Given the description of an element on the screen output the (x, y) to click on. 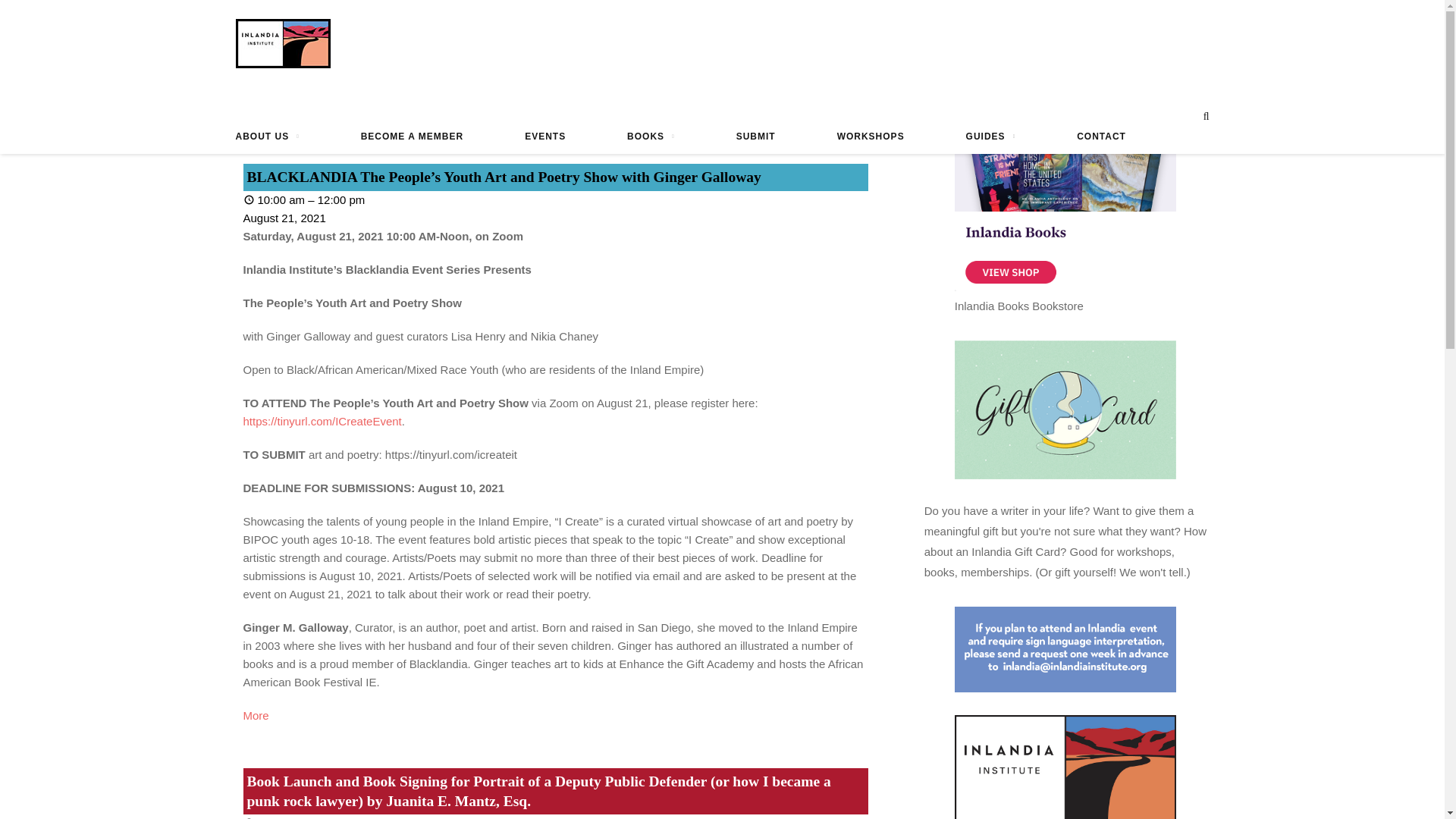
BOOKS (651, 135)
EVENTS (545, 135)
Go (564, 131)
ABOUT US (266, 135)
BECOME A MEMBER (412, 135)
WORKSHOPS (870, 135)
GUIDES (991, 135)
SUBMIT (756, 135)
